Given the description of an element on the screen output the (x, y) to click on. 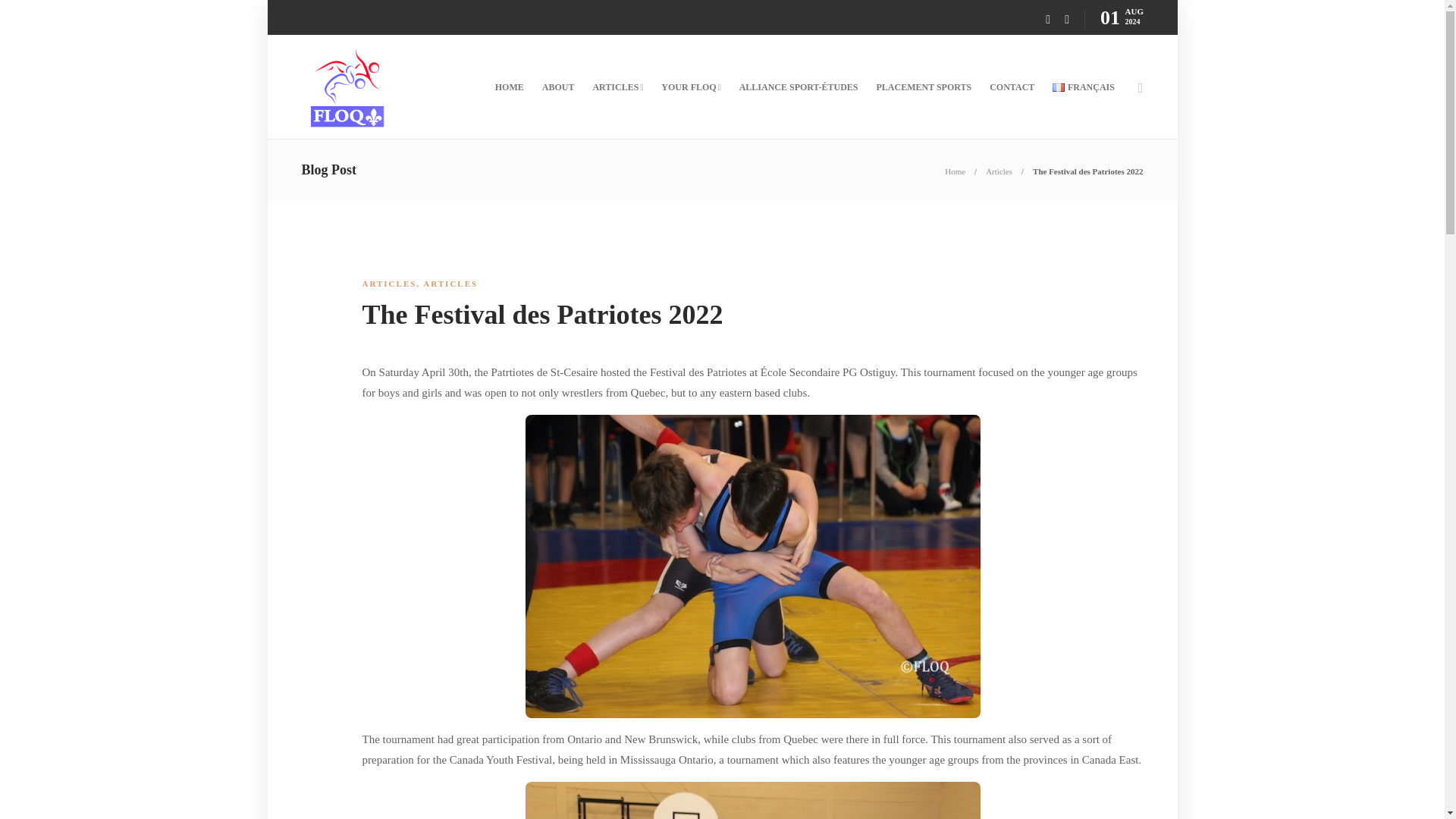
YOUR FLOQ (690, 86)
PLACEMENT SPORTS (923, 86)
The Festival des Patriotes 2022 (1087, 171)
Articles (998, 171)
Home (954, 171)
Home (954, 171)
